Given the description of an element on the screen output the (x, y) to click on. 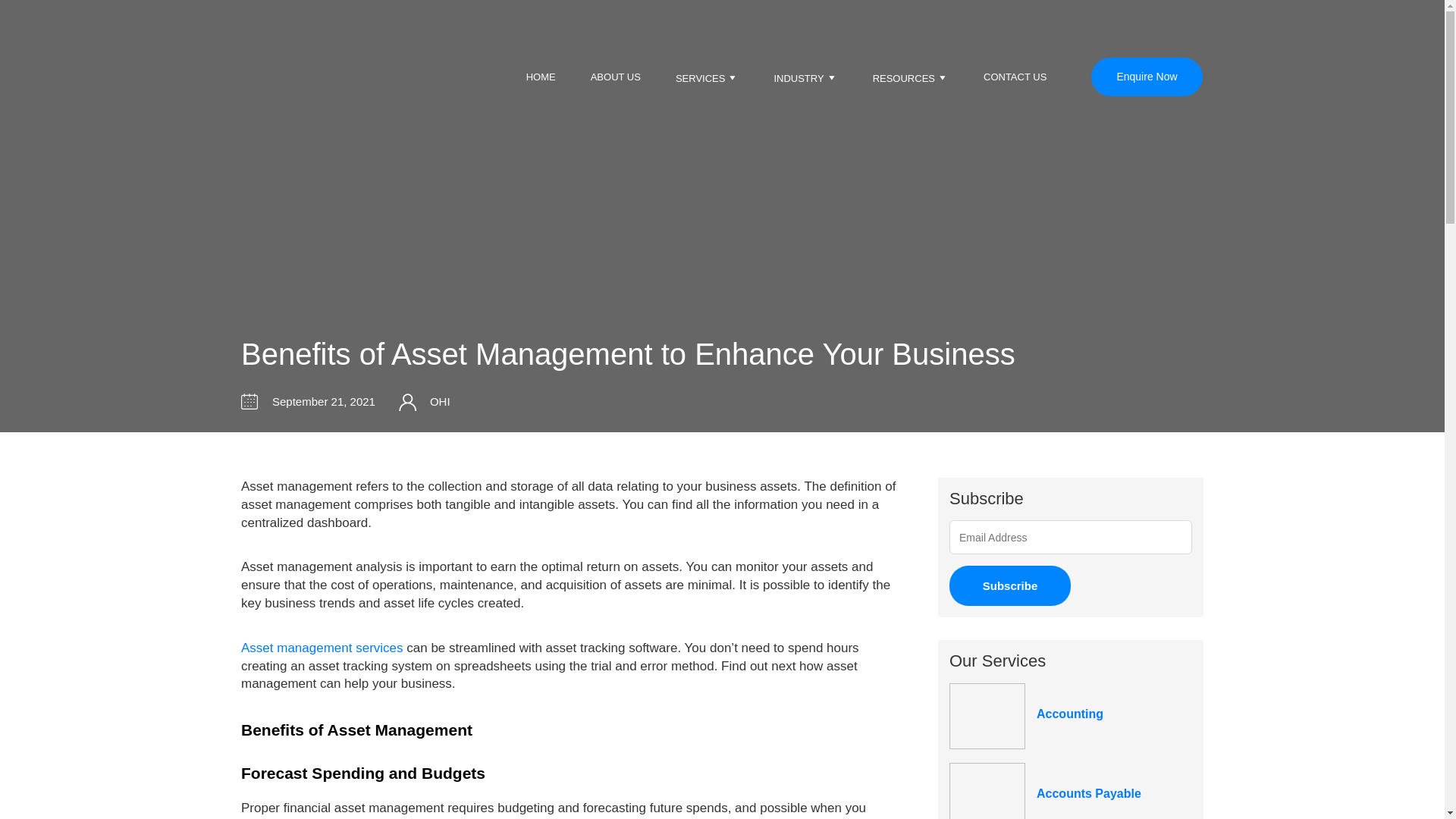
ABOUT US (615, 77)
RESOURCES (910, 77)
HOME (540, 77)
Subscribe (1009, 585)
SERVICES (707, 77)
INDUSTRY (805, 77)
